Given the description of an element on the screen output the (x, y) to click on. 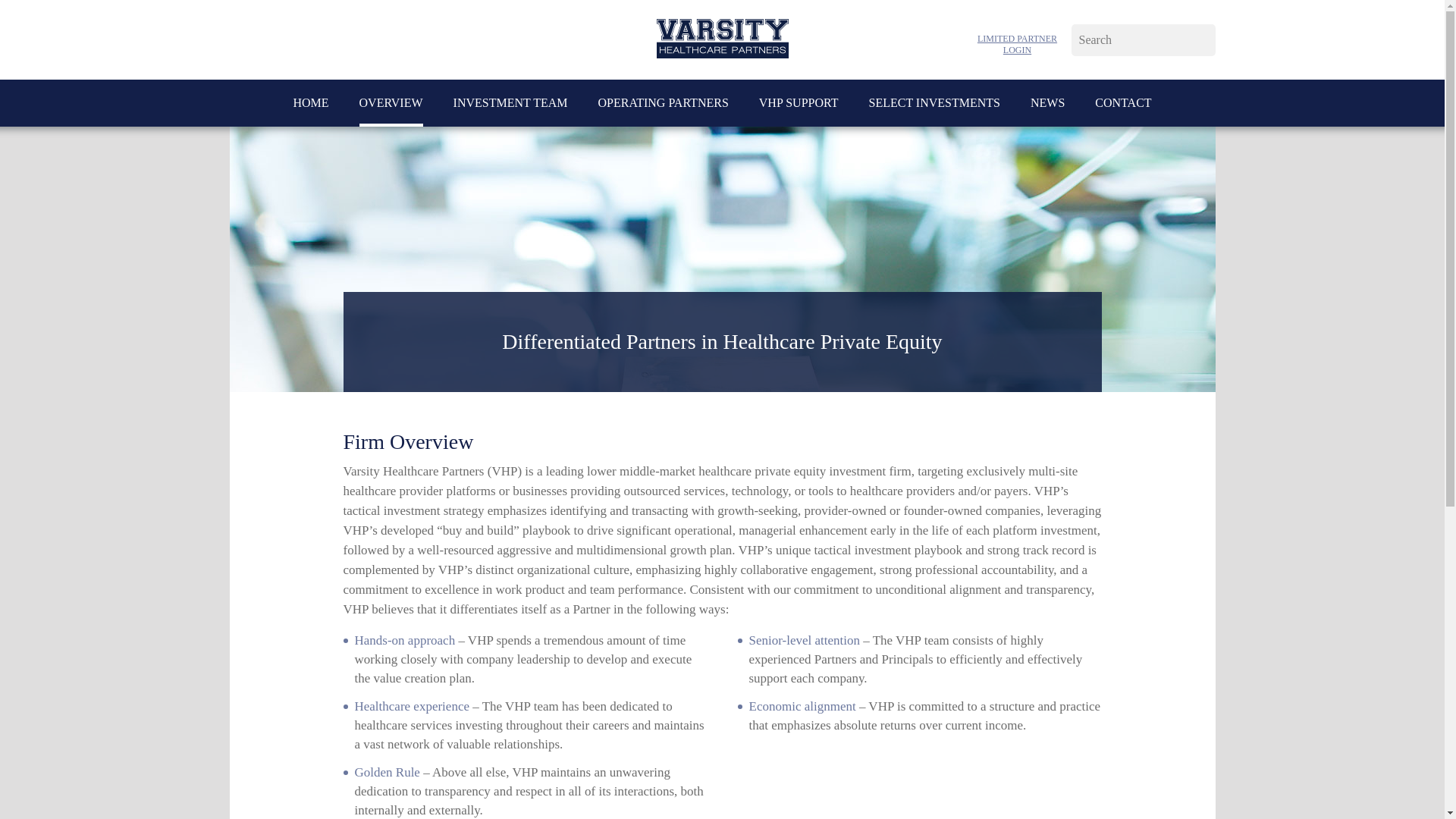
SELECT INVESTMENTS (932, 102)
NEWS (1047, 102)
VHP SUPPORT (798, 102)
CONTACT (1122, 102)
OVERVIEW (391, 102)
OPERATING PARTNERS (663, 102)
HOME (310, 102)
LIMITED PARTNER LOGIN (1017, 44)
INVESTMENT TEAM (509, 102)
